Given the description of an element on the screen output the (x, y) to click on. 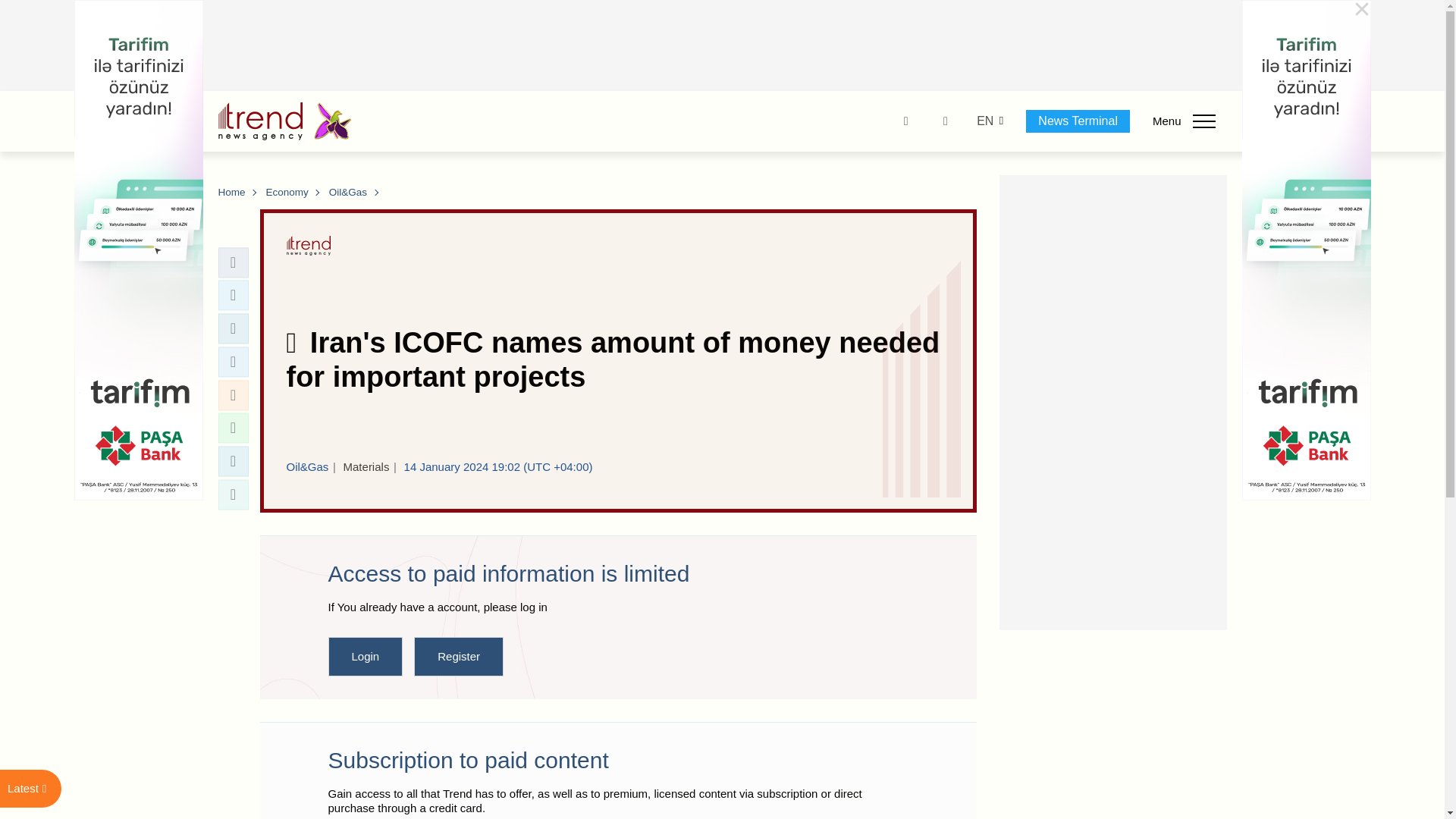
English (984, 121)
3rd party ad content (722, 45)
EN (984, 121)
News Terminal (1077, 120)
